Given the description of an element on the screen output the (x, y) to click on. 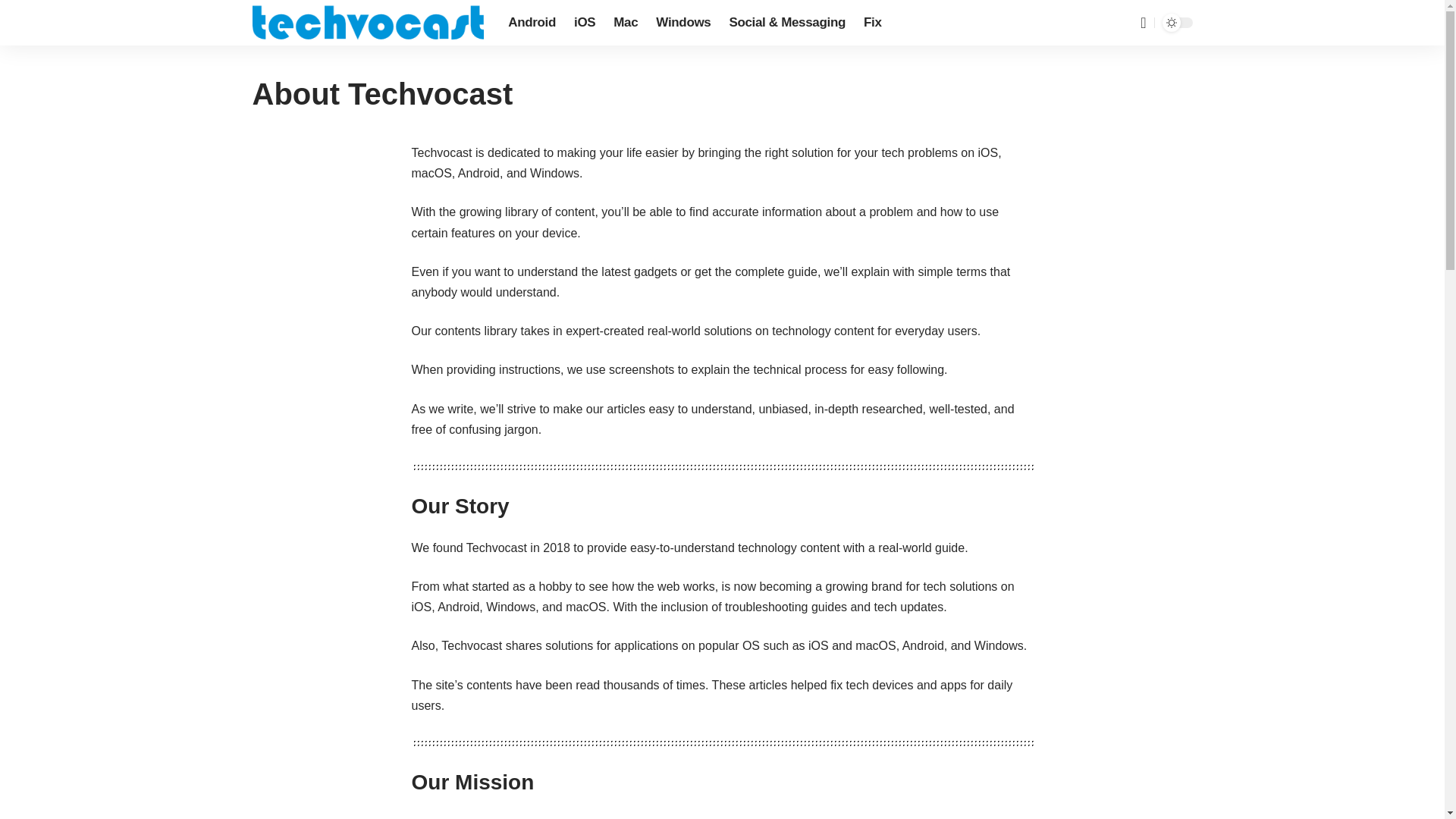
Mac (625, 22)
Windows (682, 22)
Techvocast (367, 22)
Android (531, 22)
